Given the description of an element on the screen output the (x, y) to click on. 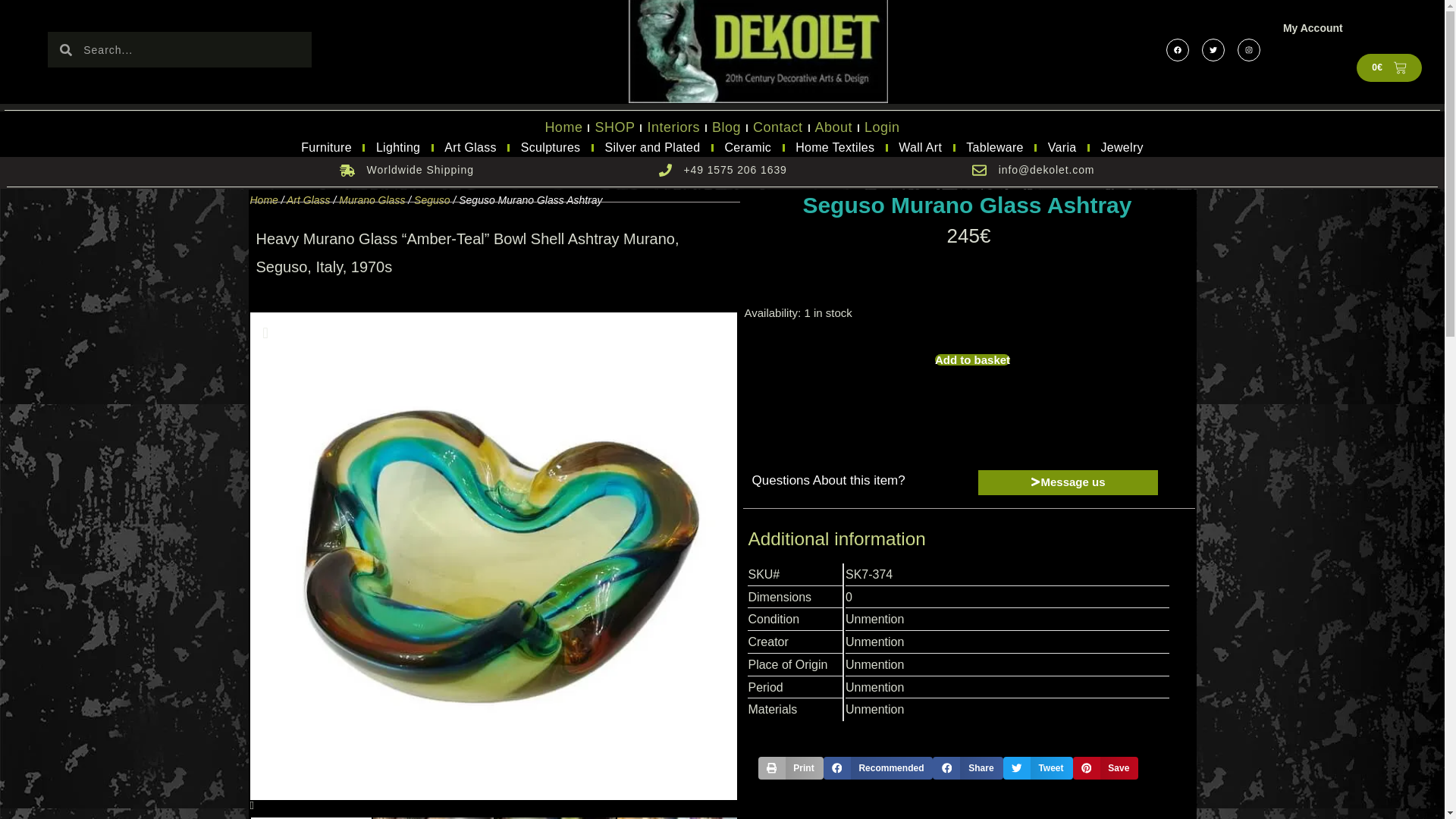
Blog (725, 127)
Facebook (1177, 48)
SHOP (615, 127)
Login (882, 127)
Wall Art (920, 147)
Ceramic (747, 147)
About (833, 127)
Home Textiles (834, 147)
Jewelry (1122, 147)
Tableware (994, 147)
Sculptures (550, 147)
Twitter (1213, 48)
Interiors (673, 127)
Varia (1062, 147)
Furniture (326, 147)
